Given the description of an element on the screen output the (x, y) to click on. 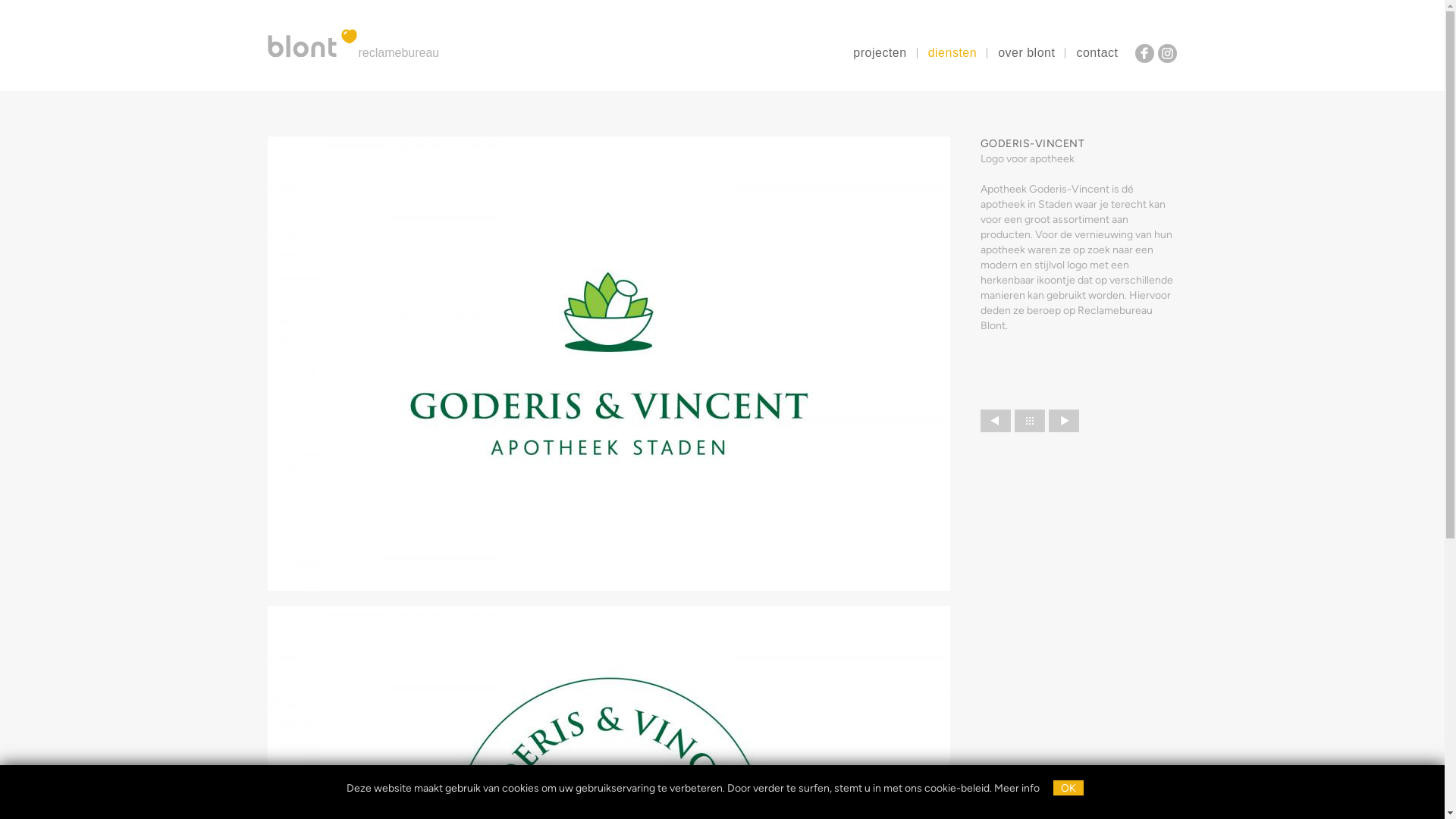
contact Element type: text (1096, 52)
Meer info Element type: text (1015, 787)
blont Element type: hover (311, 41)
OK Element type: text (1067, 787)
diensten Element type: text (952, 52)
reclamebureau Element type: text (358, 41)
over blont Element type: text (1025, 52)
projecten Element type: text (879, 52)
